Given the description of an element on the screen output the (x, y) to click on. 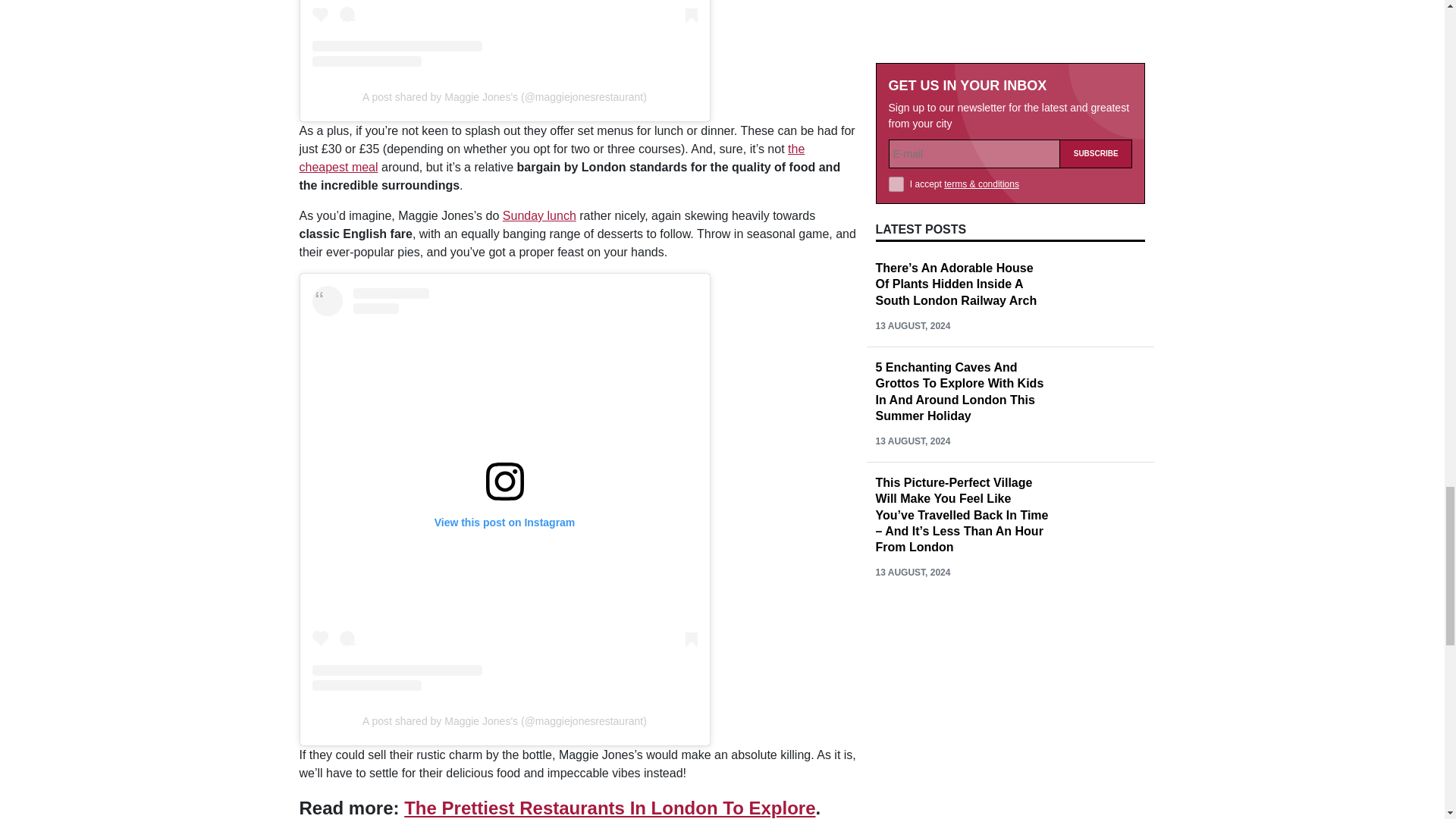
Sunday lunch (539, 215)
View this post on Instagram (505, 33)
The Prettiest Restaurants In London To Explore (609, 807)
the cheapest meal (551, 157)
